Given the description of an element on the screen output the (x, y) to click on. 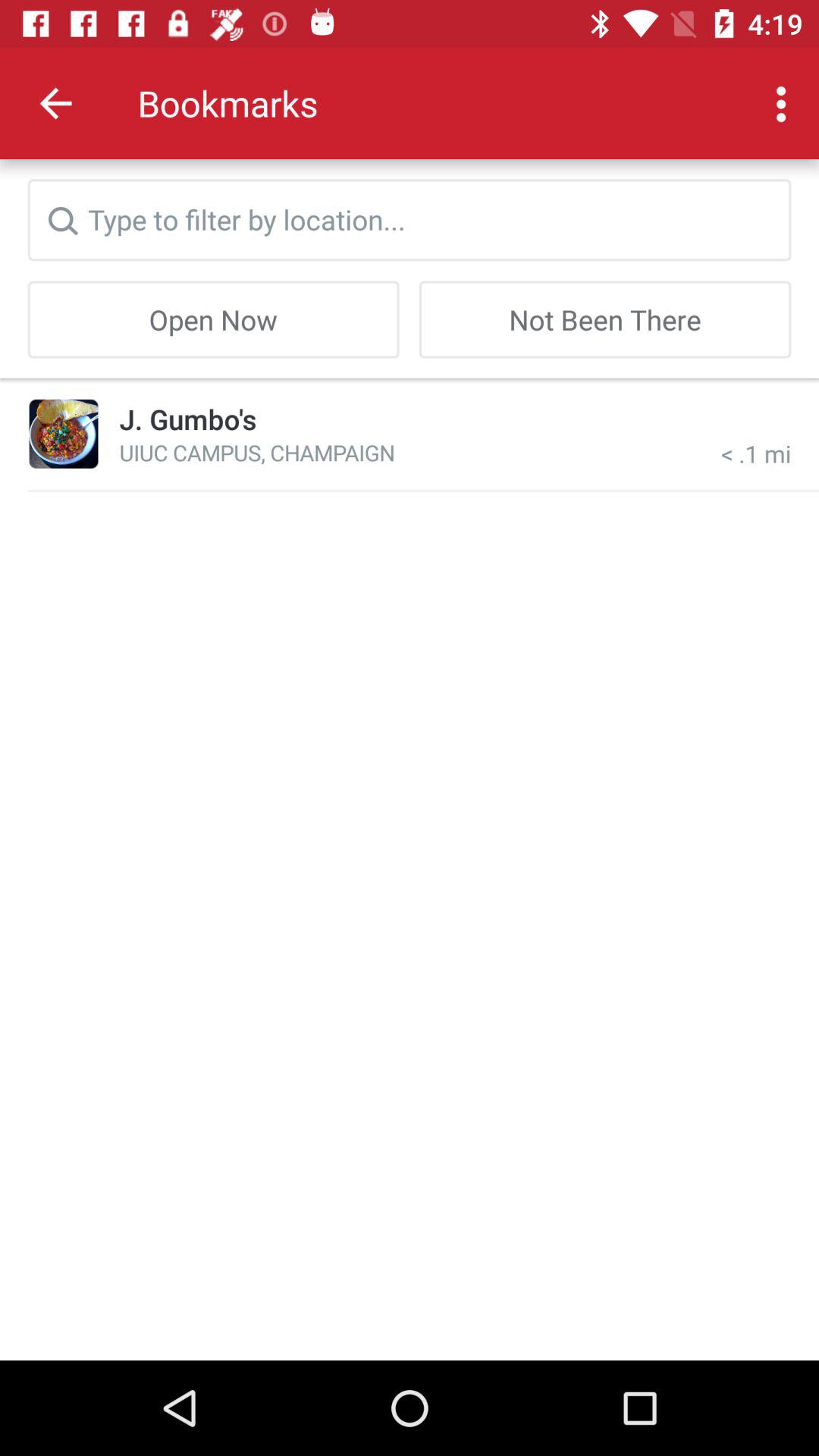
turn on item next to < .1 mi item (187, 418)
